Given the description of an element on the screen output the (x, y) to click on. 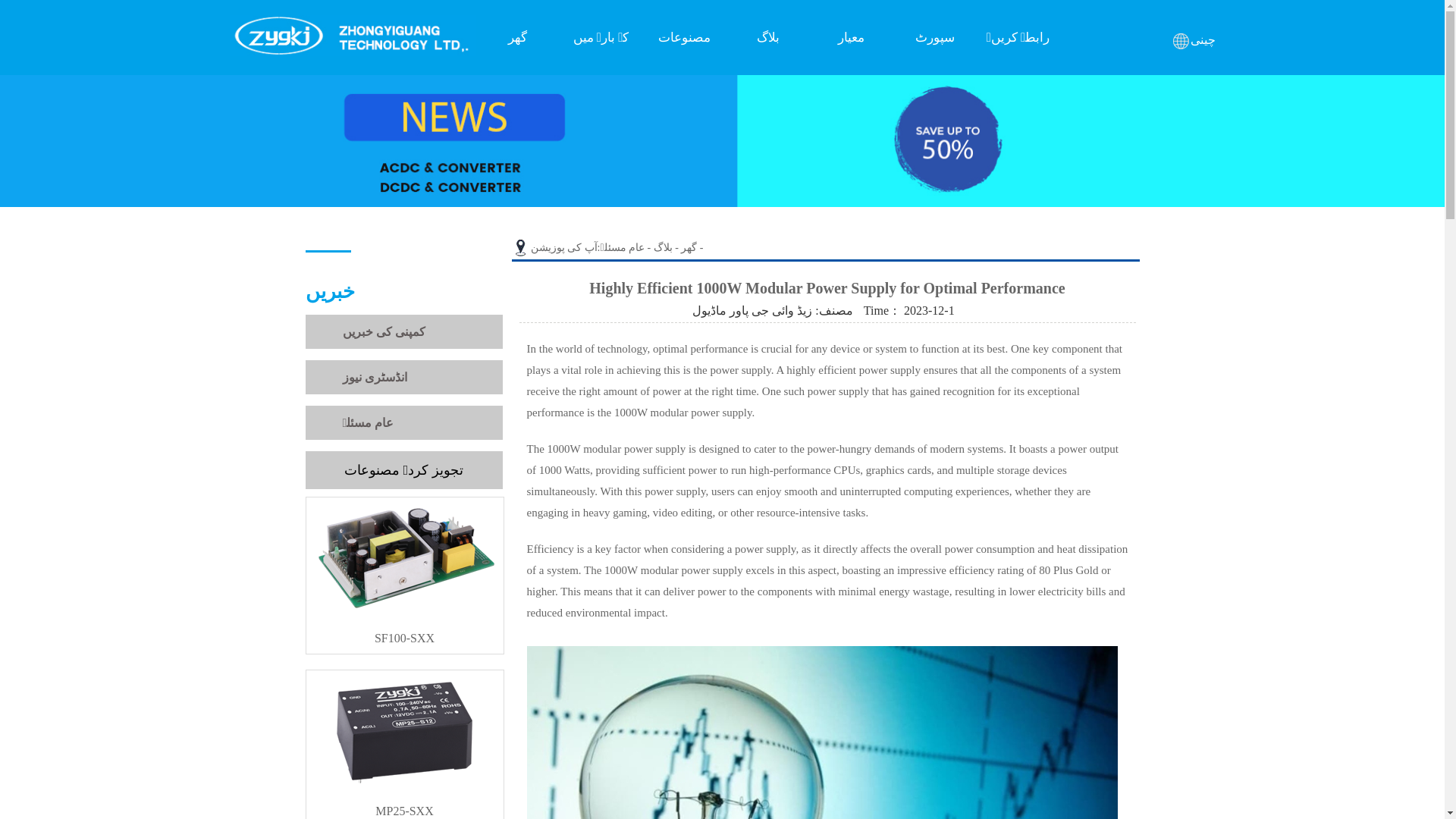
MP25-SXX (404, 800)
SF100-SXX (404, 631)
MP25-SXX (404, 800)
1000W modular power supply (683, 412)
SF100-SXX (404, 631)
